Given the description of an element on the screen output the (x, y) to click on. 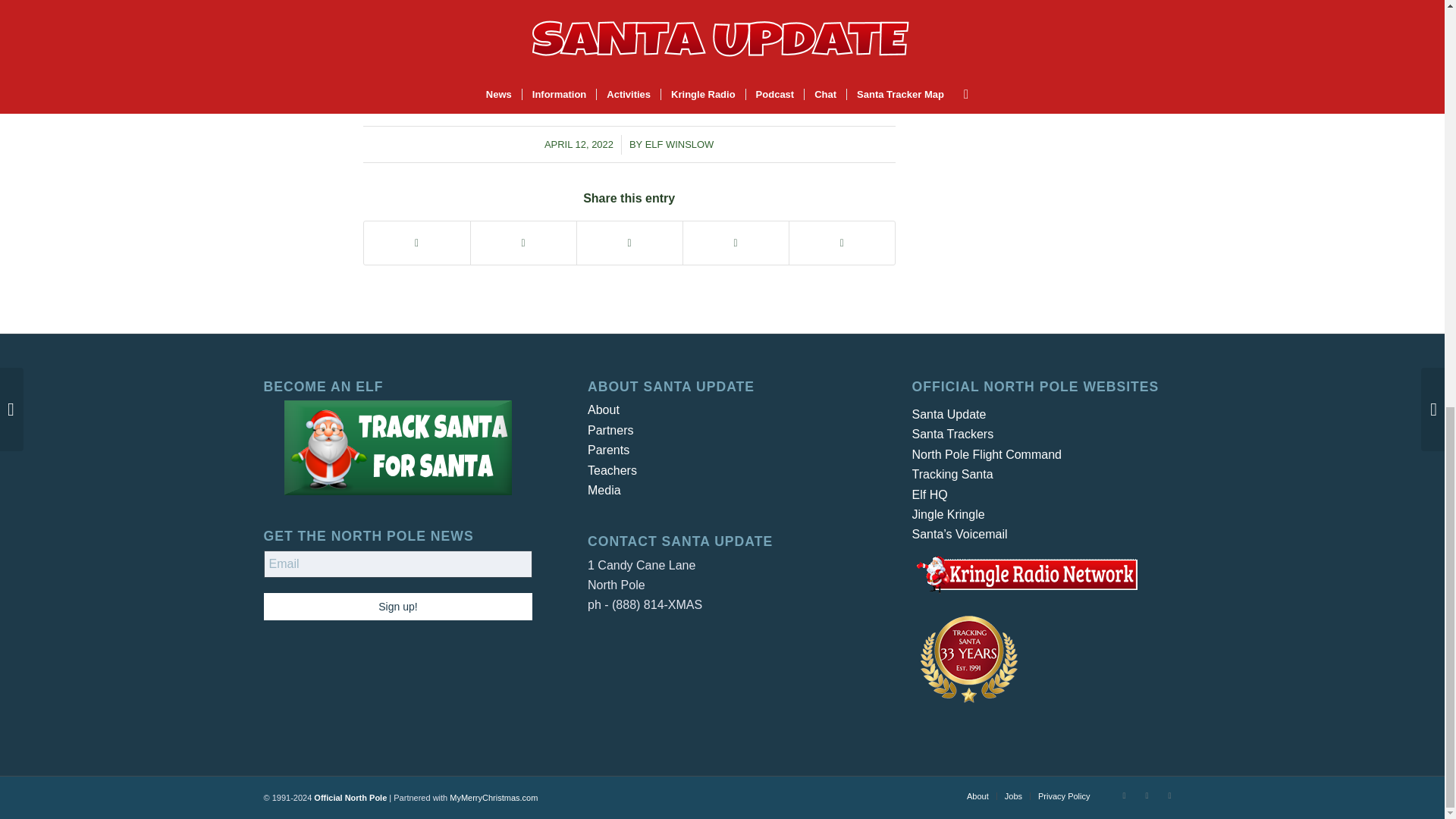
Become an Elf (397, 447)
Facebook (1146, 794)
Posts by Elf Winslow (679, 143)
X (1124, 794)
Sign up! (397, 605)
Subscribe (422, 21)
